Given the description of an element on the screen output the (x, y) to click on. 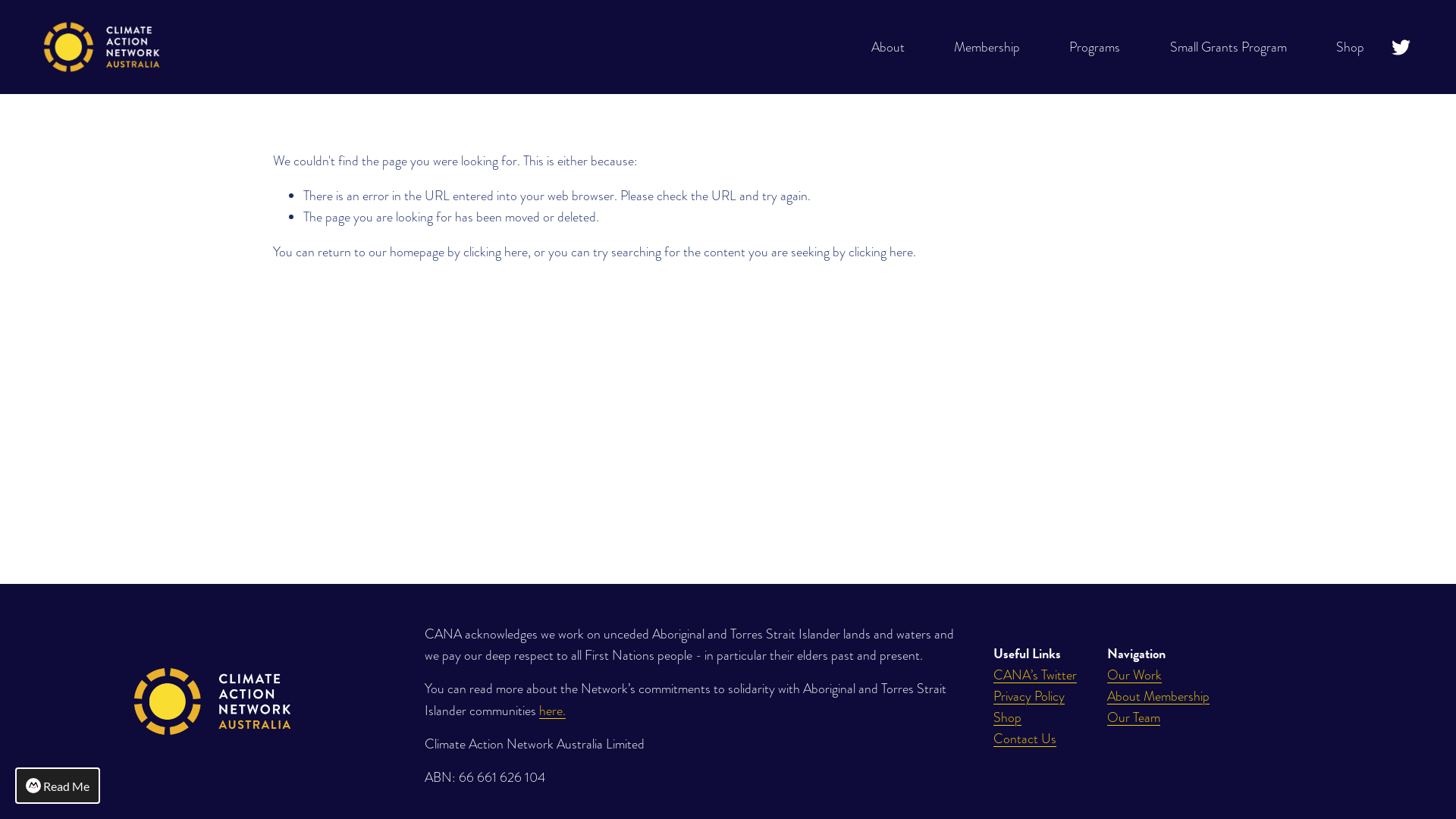
About Element type: text (887, 46)
Our Work Element type: text (1134, 674)
Small Grants Program Element type: text (1228, 46)
Shop Element type: text (1007, 717)
Contact Us Element type: text (1024, 738)
About Membership Element type: text (1158, 695)
Privacy Policy Element type: text (1028, 695)
clicking here Element type: text (880, 251)
Shop Element type: text (1350, 46)
Membership Element type: text (986, 46)
Our Team Element type: text (1133, 717)
here. Element type: text (552, 709)
clicking here Element type: text (495, 251)
Programs Element type: text (1094, 46)
